Given the description of an element on the screen output the (x, y) to click on. 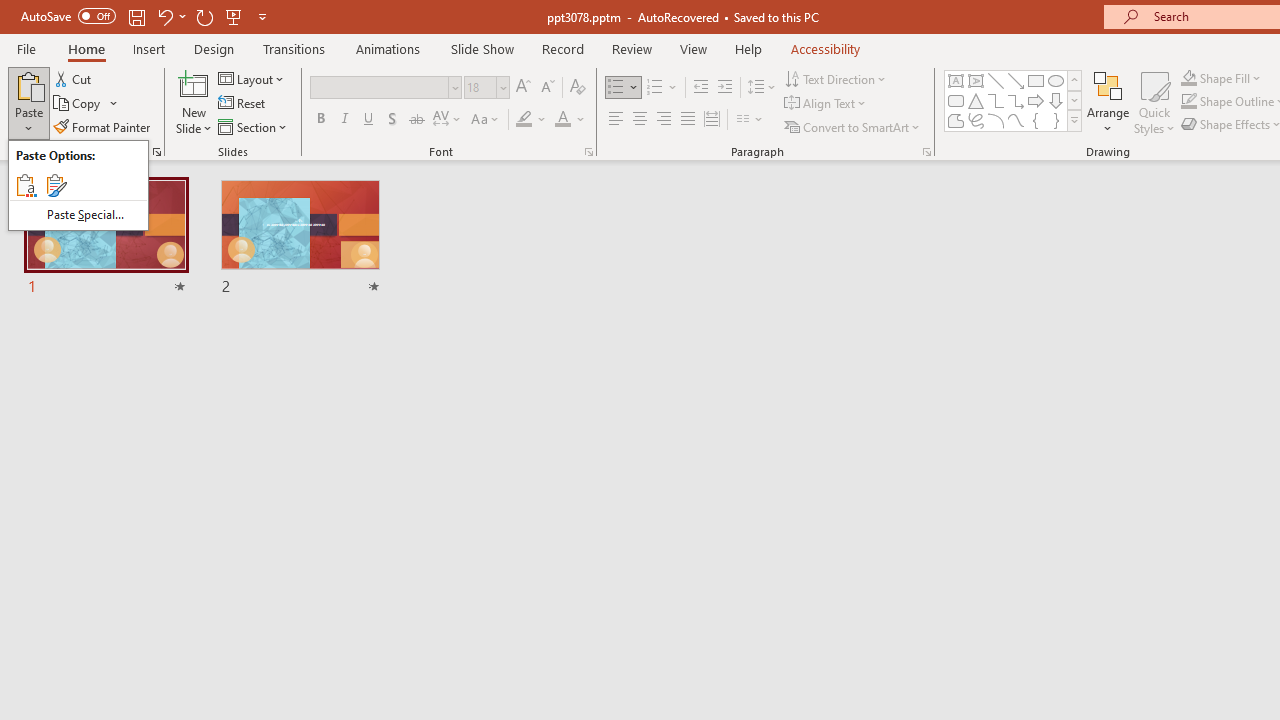
Left Brace (1035, 120)
Justify (687, 119)
Font (379, 87)
Text Box (955, 80)
Line Arrow (1016, 80)
Clear Formatting (577, 87)
Copy (78, 103)
Quick Styles (1154, 102)
Right Brace (1055, 120)
Columns (750, 119)
